Given the description of an element on the screen output the (x, y) to click on. 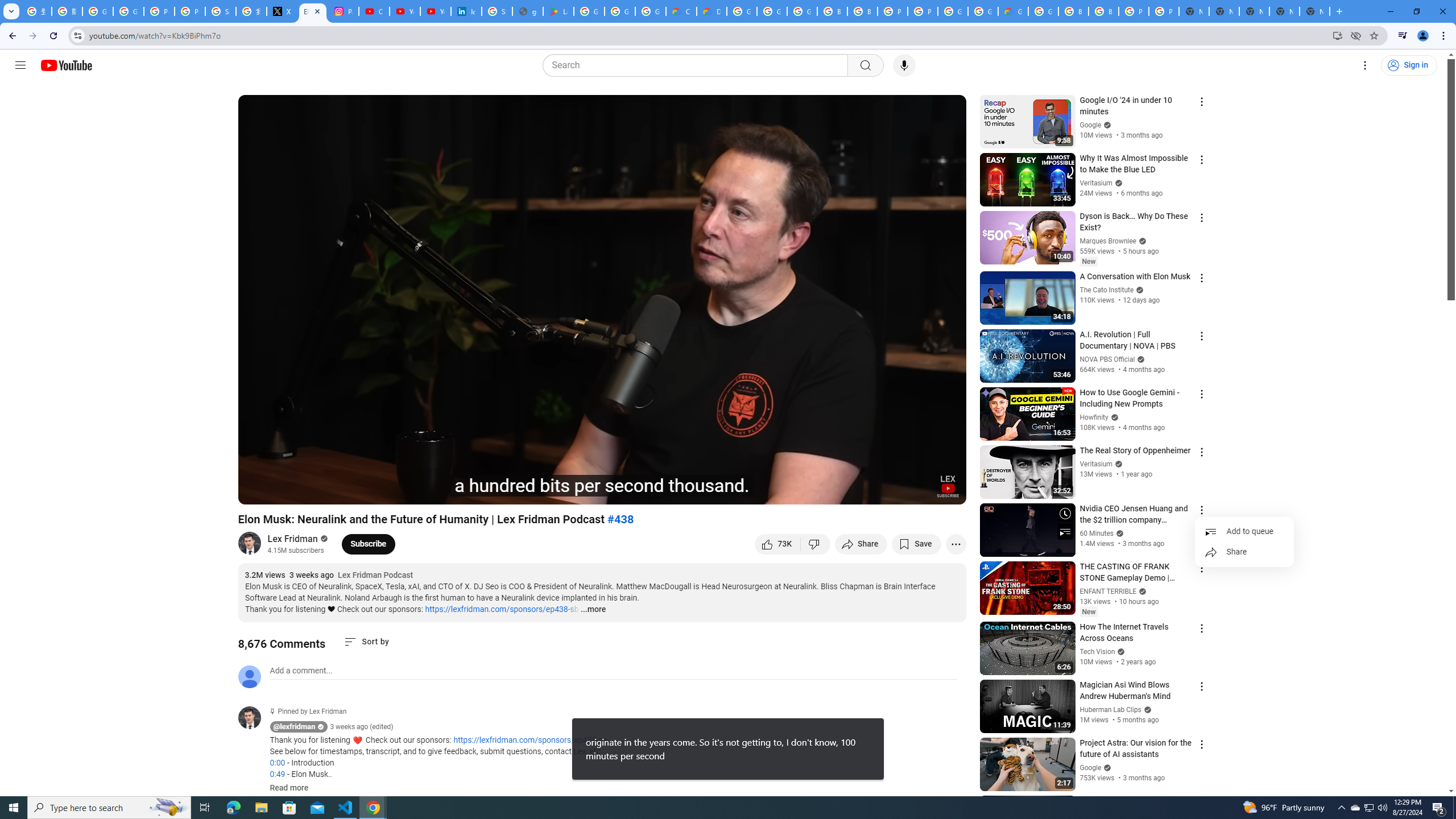
Seek slider (601, 476)
@lexfridman (253, 717)
Next (SHIFT+n) (284, 490)
Search with your voice (903, 65)
Sort comments (366, 641)
YouTube Culture & Trends - YouTube Top 10, 2021 (434, 11)
Privacy Help Center - Policies Help (189, 11)
Theater mode (t) (917, 490)
